Given the description of an element on the screen output the (x, y) to click on. 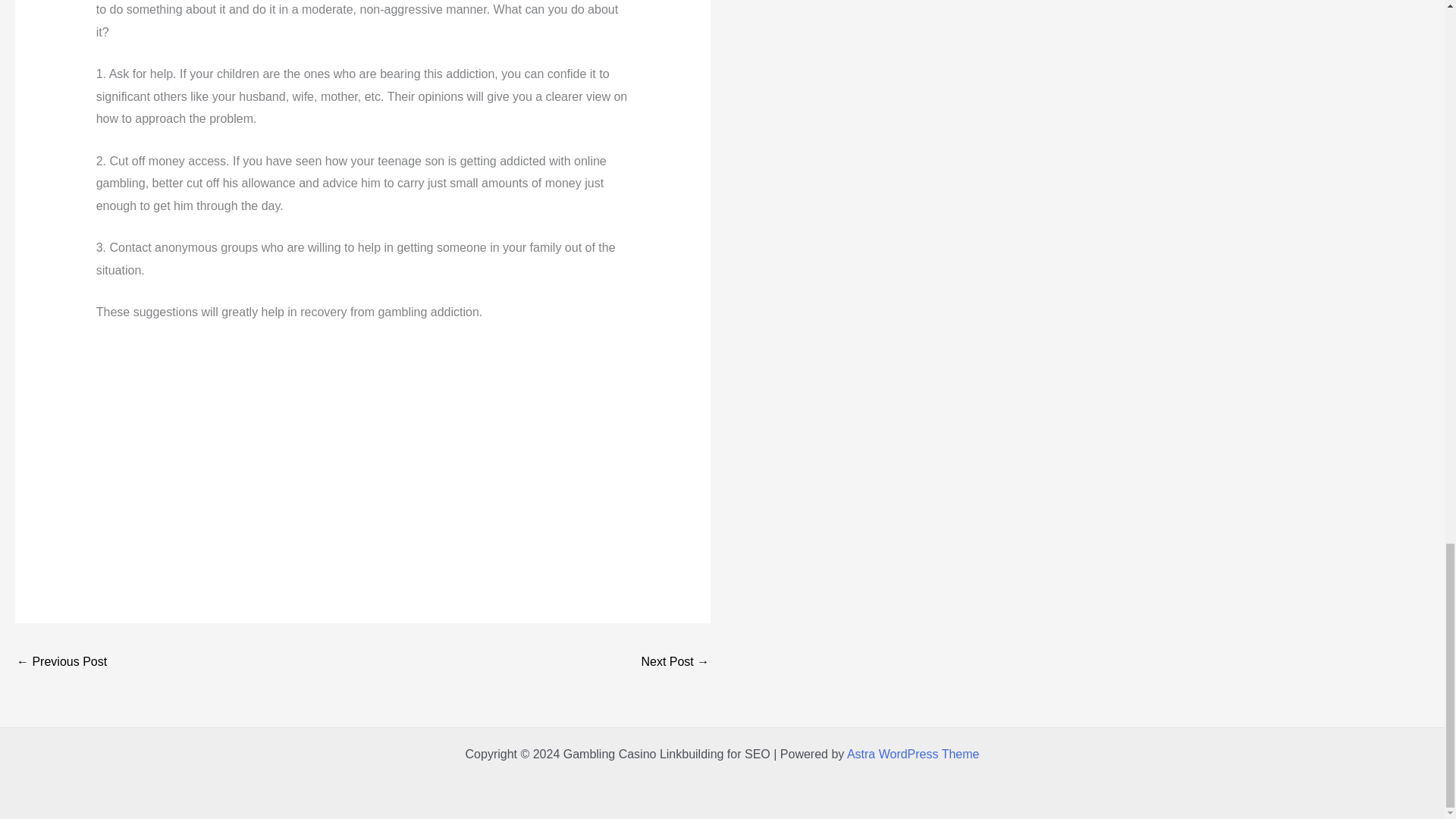
Advertisement (362, 450)
Astra WordPress Theme (913, 753)
Best Gambling Ebooks (674, 663)
The Anatomy of Online Poker Reviews (61, 663)
